Given the description of an element on the screen output the (x, y) to click on. 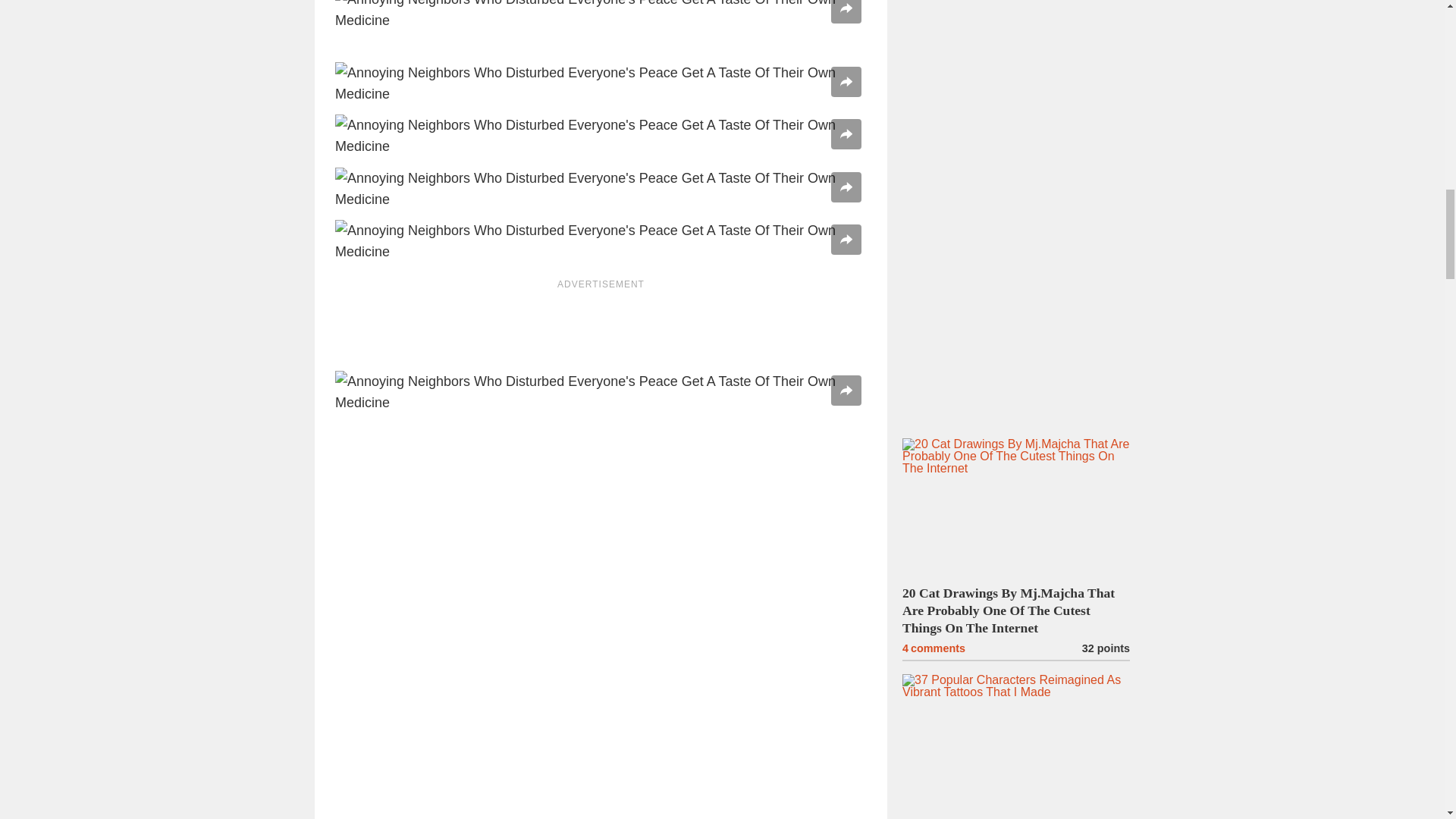
Share icon (845, 133)
Share icon (845, 186)
Share icon (845, 81)
Share icon (845, 390)
Share icon (845, 239)
Share icon (845, 8)
